Given the description of an element on the screen output the (x, y) to click on. 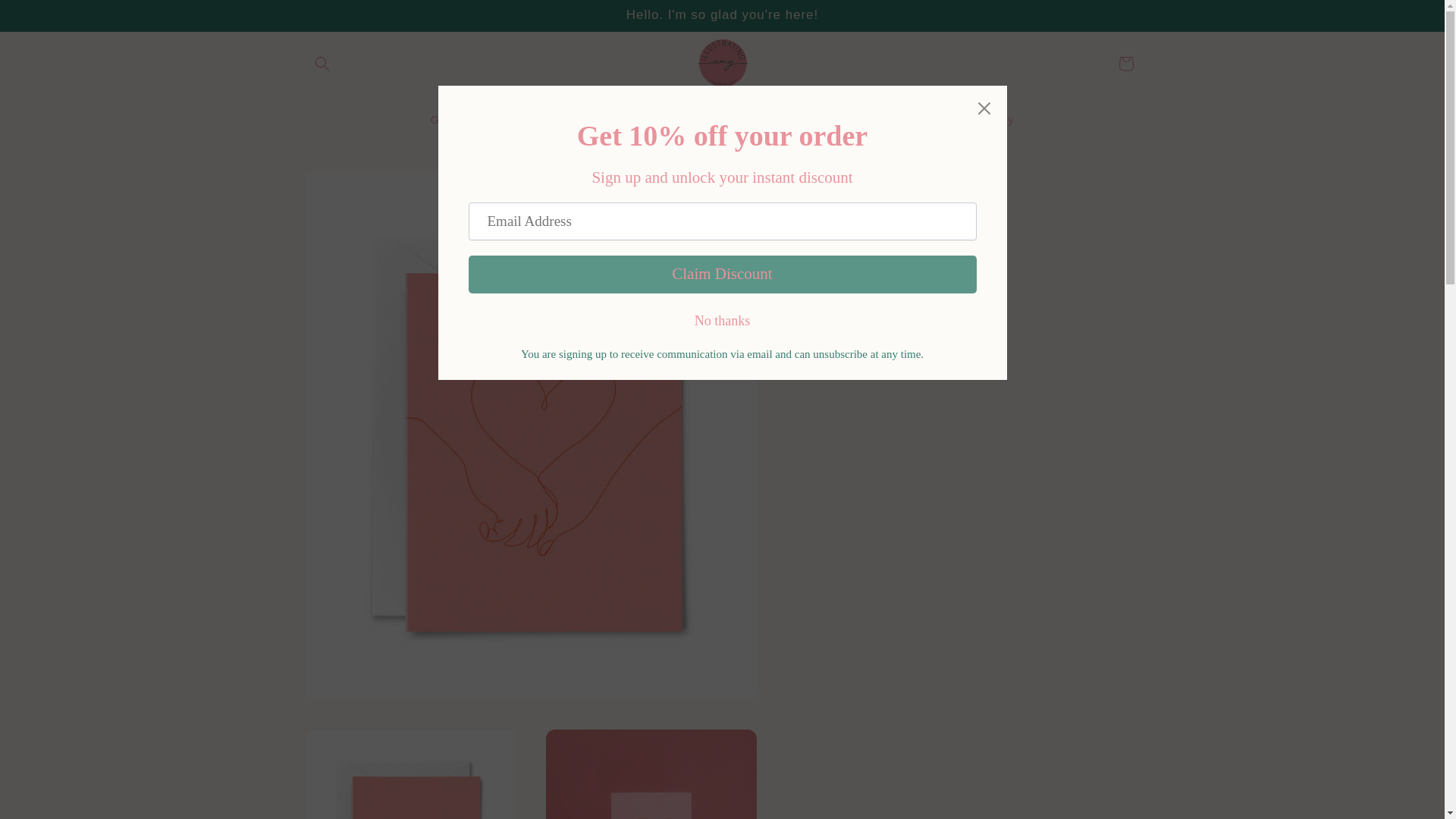
Open media 2 in modal (409, 774)
Skip to content (45, 17)
Open media 3 in modal (651, 774)
1 (856, 471)
